Given the description of an element on the screen output the (x, y) to click on. 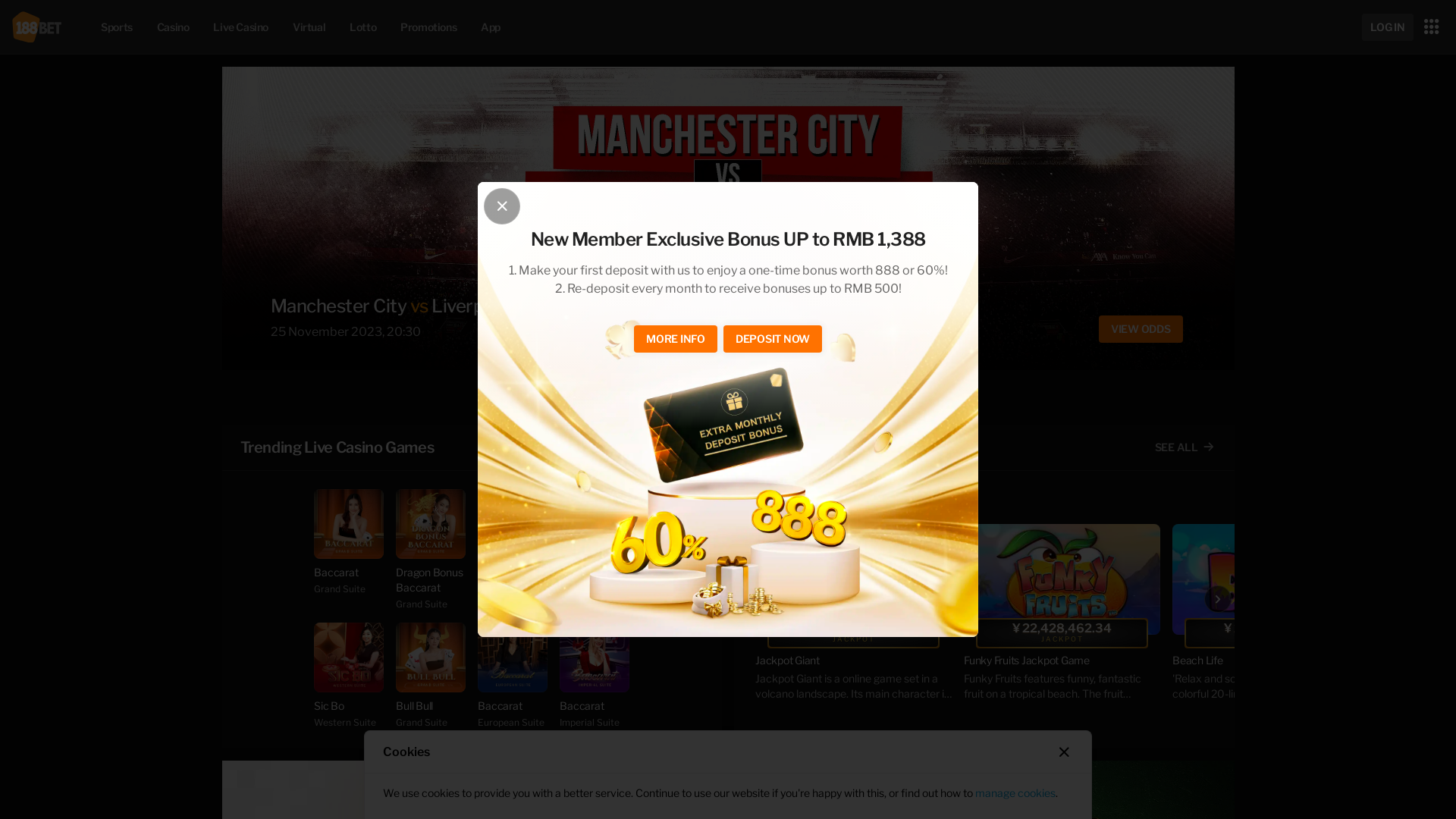
VIEW ODDS Element type: text (1130, 328)
App Element type: text (490, 26)
Baccarat Element type: hover (512, 657)
Biggest jackpot Element type: text (805, 447)
Sic Bo Element type: hover (348, 657)
Baccarat Element type: hover (594, 657)
Beach Life Element type: text (1270, 660)
Lotto Element type: text (362, 26)
Bull Bull Element type: hover (430, 657)
manage cookies Element type: text (1015, 792)
Jackpot Giant Element type: text (853, 660)
Funky Fruits Jackpot Game Element type: text (1061, 660)
Funky Fruits Jackpot Game Element type: hover (1061, 579)
SEE ALL Element type: text (671, 447)
SEE ALL Element type: text (1184, 447)
Baccarat Element type: hover (594, 523)
Sports Element type: text (116, 26)
LOG IN Element type: text (1387, 26)
MORE INFO Element type: text (675, 338)
Promotions Element type: text (428, 26)
DEPOSIT NOW Element type: text (772, 338)
Virtual Element type: text (308, 26)
Multi Table Baccarat Element type: hover (512, 523)
Beach Life Element type: hover (1270, 579)
Jackpot Giant Element type: hover (853, 579)
Live Casino Element type: text (240, 26)
Baccarat Element type: hover (348, 523)
Casino Element type: text (172, 26)
Dragon Bonus Baccarat Element type: hover (430, 523)
